Given the description of an element on the screen output the (x, y) to click on. 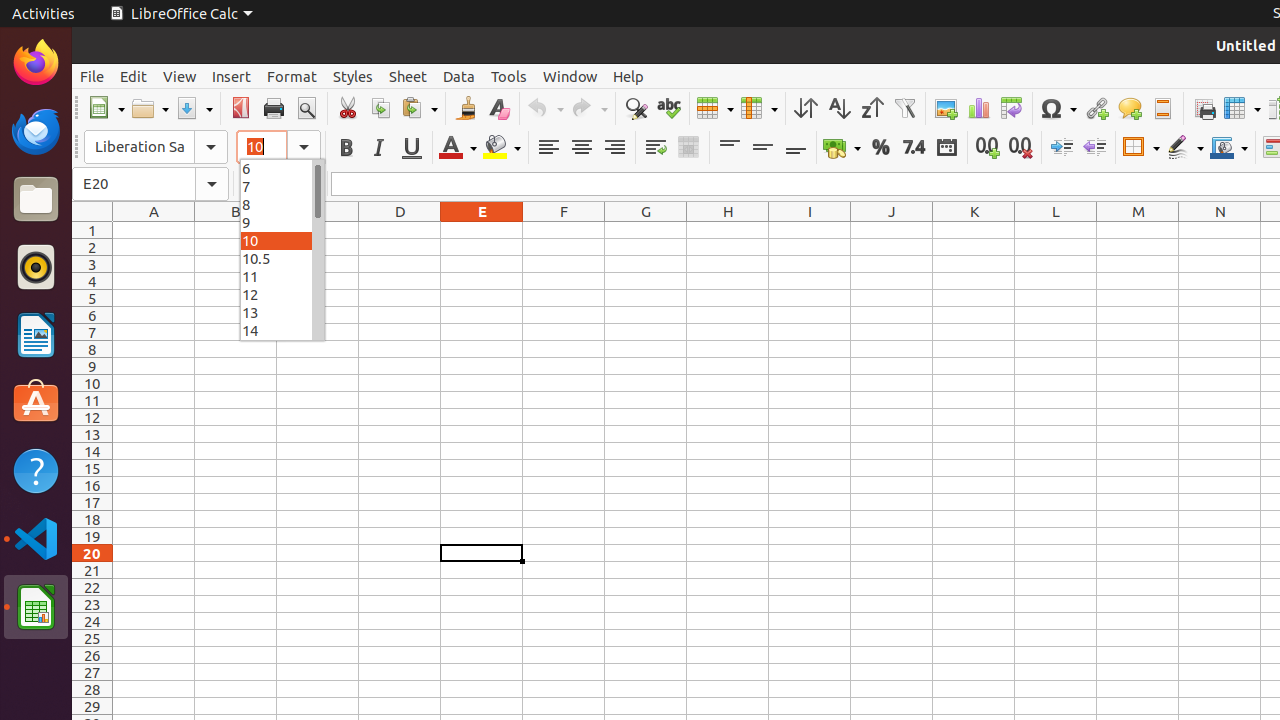
Sheet Element type: menu (408, 76)
Percent Element type: push-button (880, 147)
Align Top Element type: push-button (729, 147)
Column Element type: push-button (759, 108)
